Given the description of an element on the screen output the (x, y) to click on. 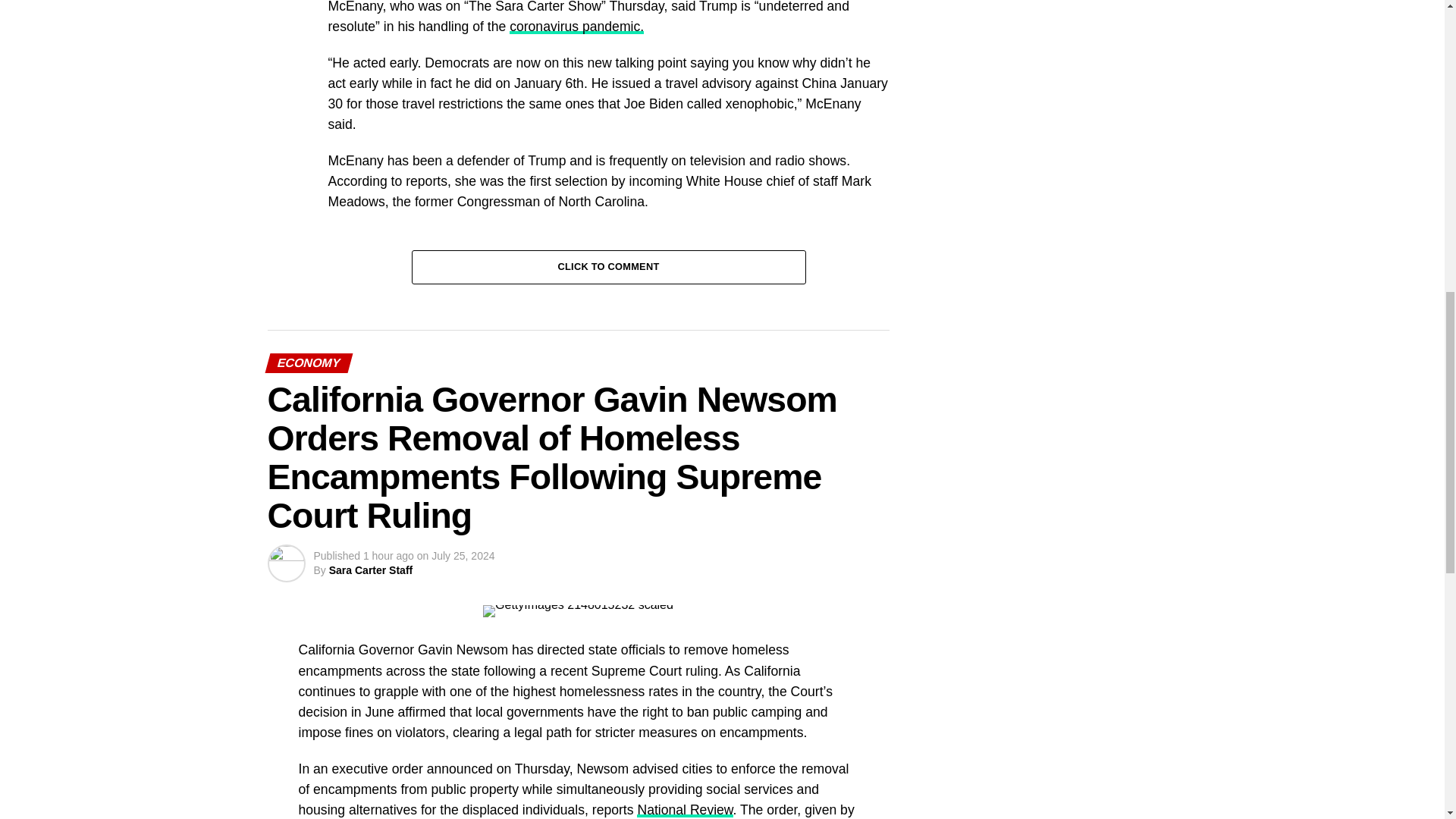
Sara Carter Staff (371, 570)
coronavirus pandemic. (576, 26)
Posts by Sara Carter Staff (371, 570)
